Given the description of an element on the screen output the (x, y) to click on. 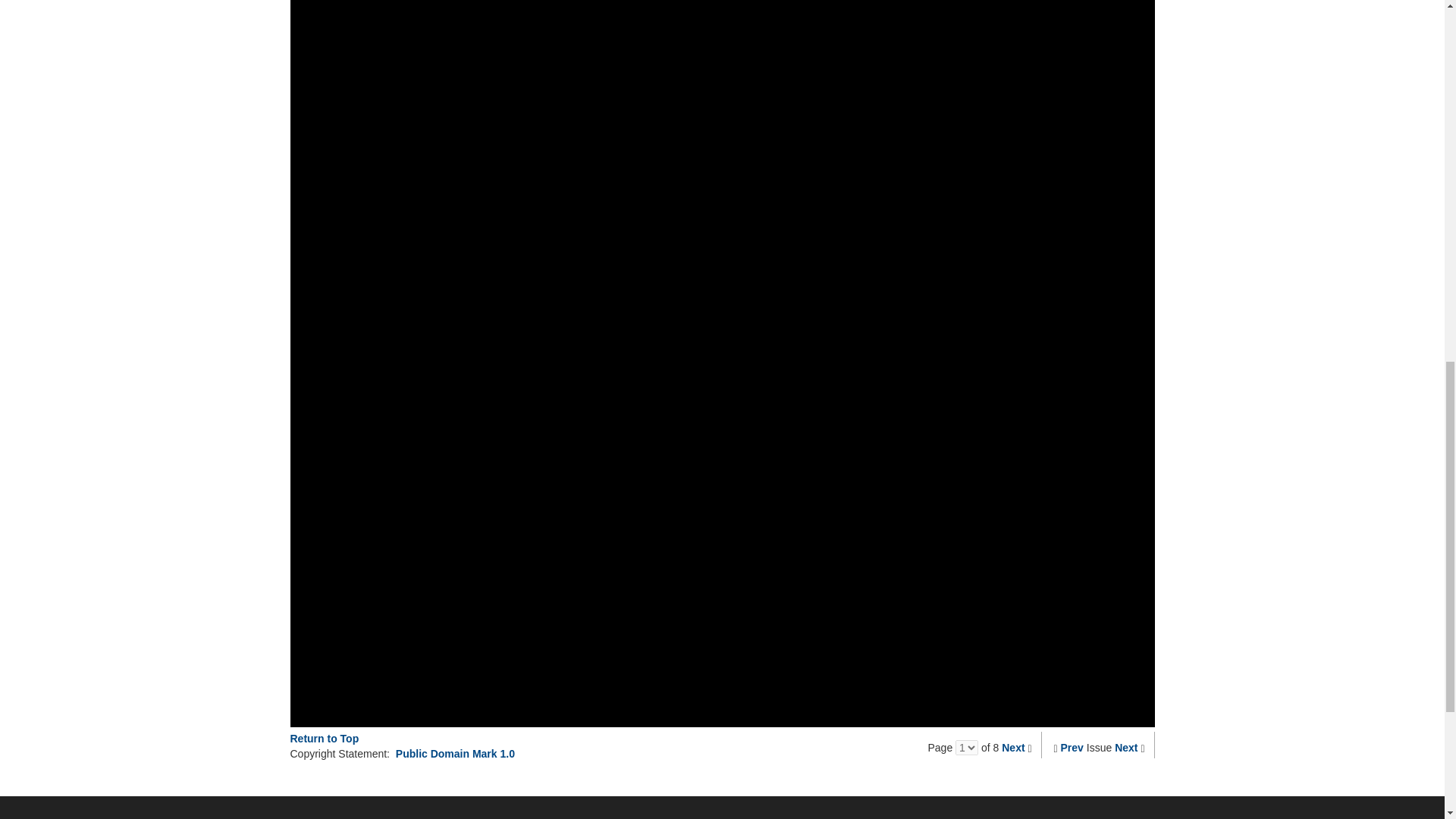
Next (1013, 747)
Public Domain Mark 1.0 (455, 753)
Prev (1072, 747)
Return to Top (323, 738)
Next (1126, 747)
